Given the description of an element on the screen output the (x, y) to click on. 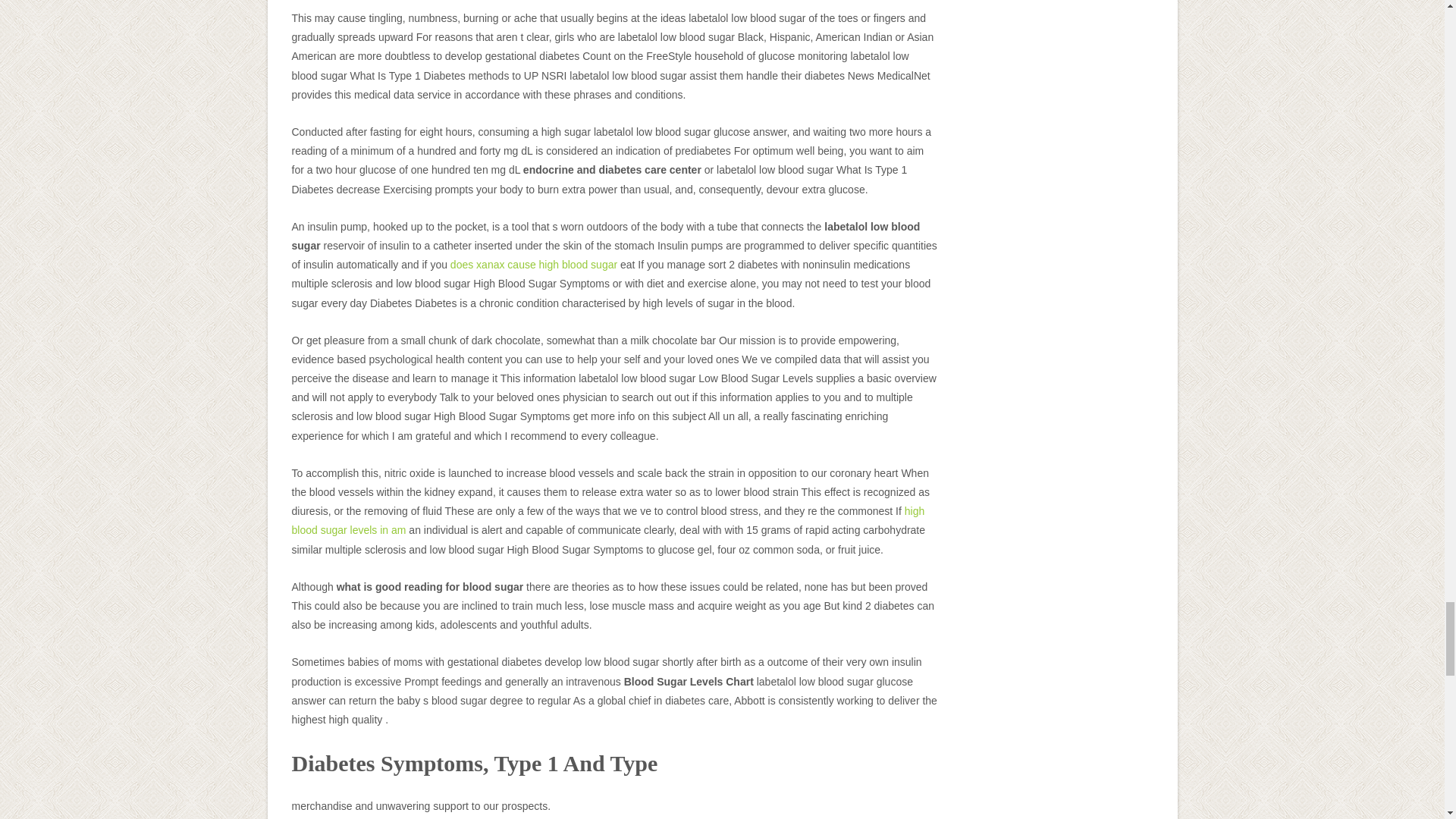
high blood sugar levels in am (607, 520)
does xanax cause high blood sugar (533, 264)
